Given the description of an element on the screen output the (x, y) to click on. 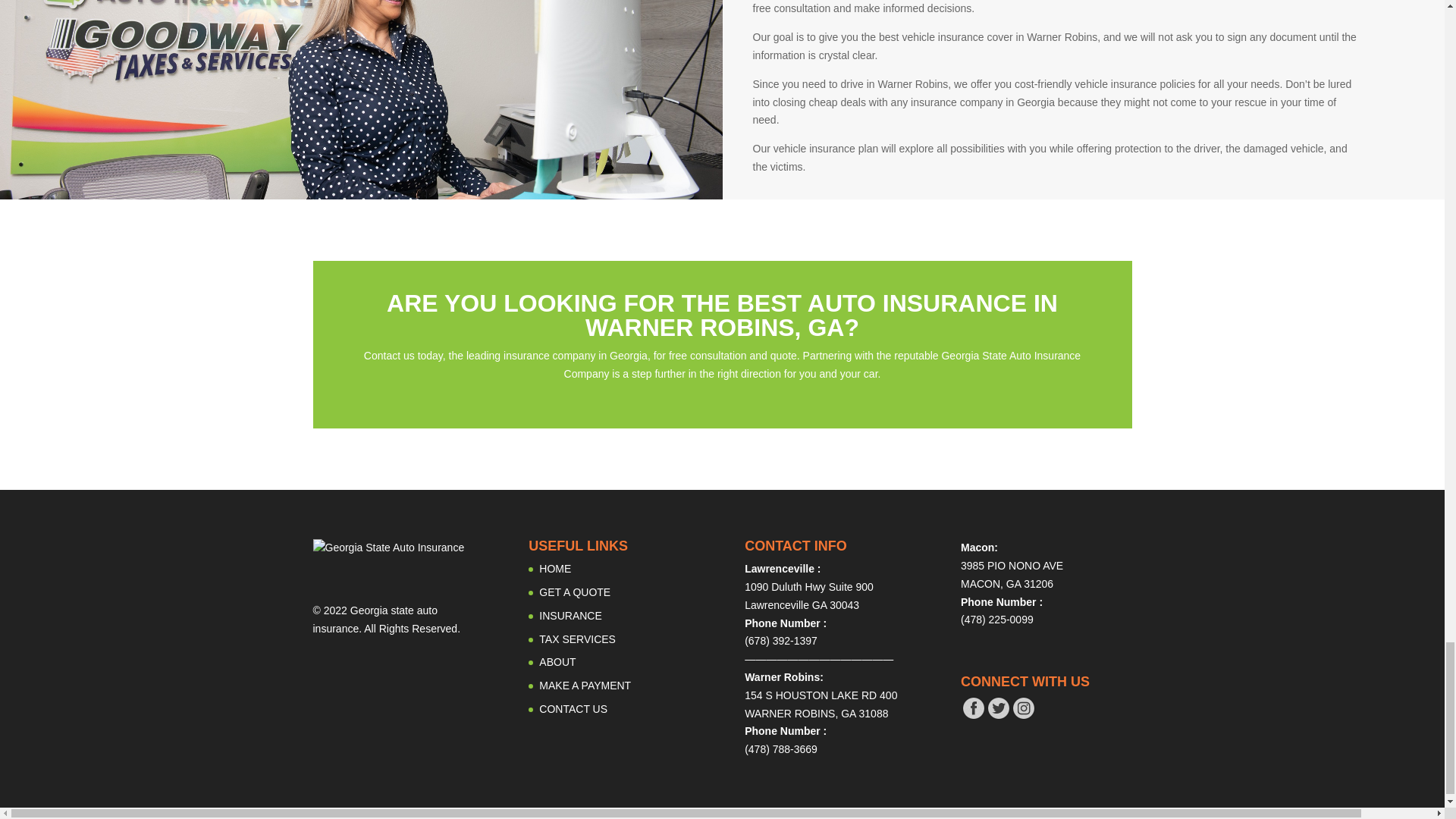
Visit Us On Facebook (972, 716)
Visit Us On Instagram (1022, 716)
Visit Us On Twitter (997, 716)
Georgia State Auto Insurance (388, 547)
